Given the description of an element on the screen output the (x, y) to click on. 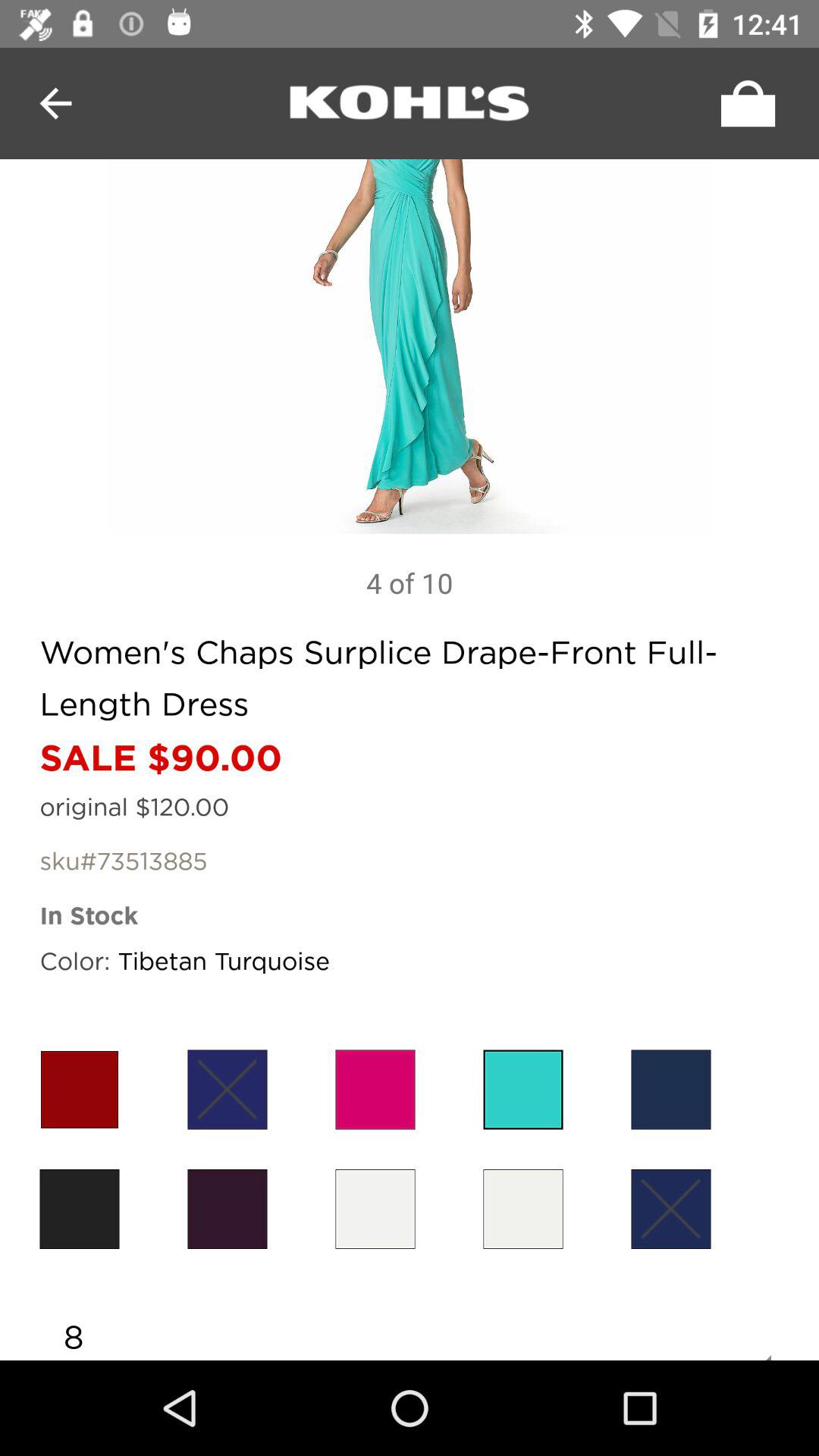
tibetan turquoise option (523, 1089)
